Given the description of an element on the screen output the (x, y) to click on. 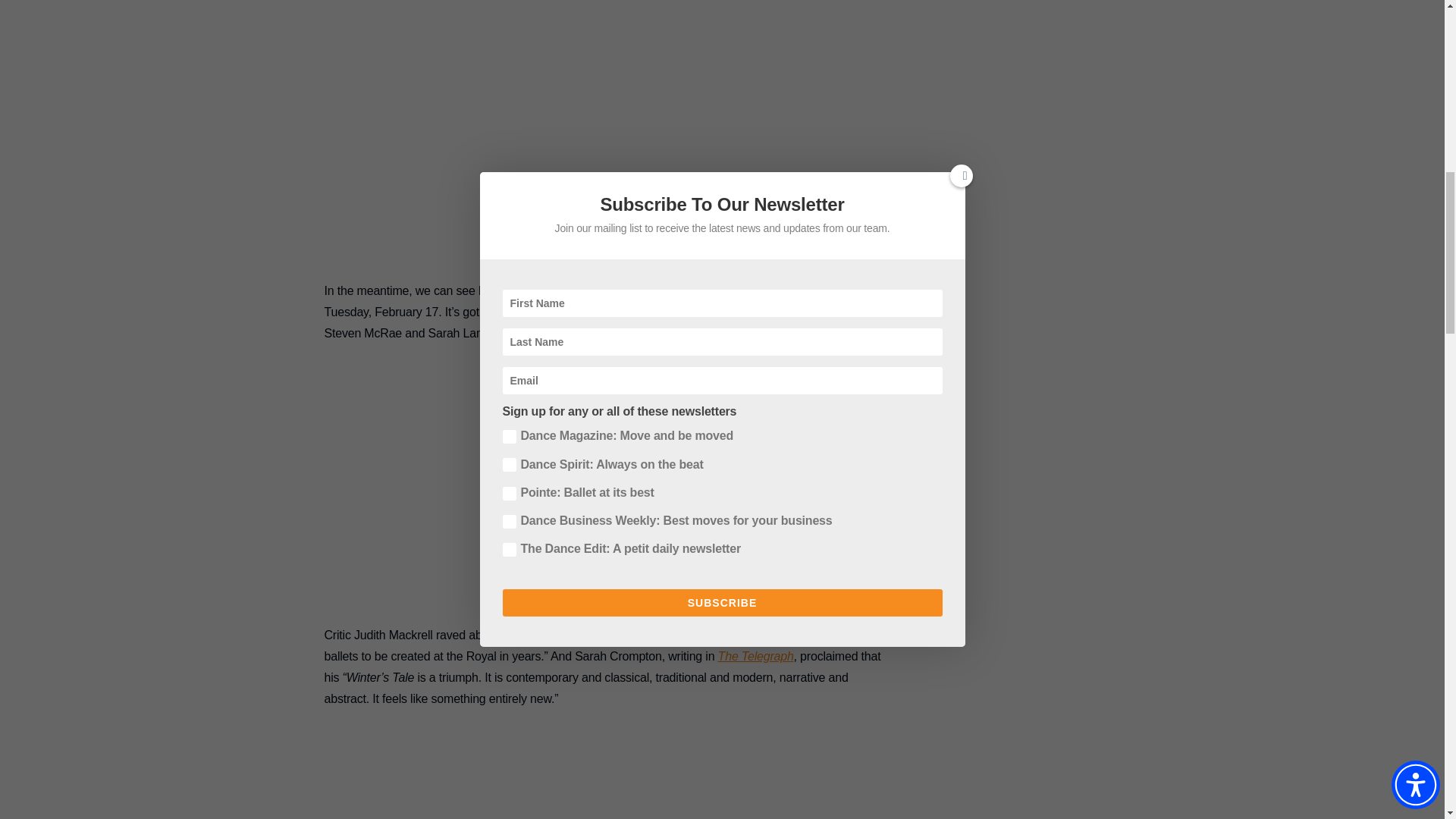
3rd party ad content (602, 499)
3rd party ad content (602, 794)
3rd party ad content (602, 155)
